Given the description of an element on the screen output the (x, y) to click on. 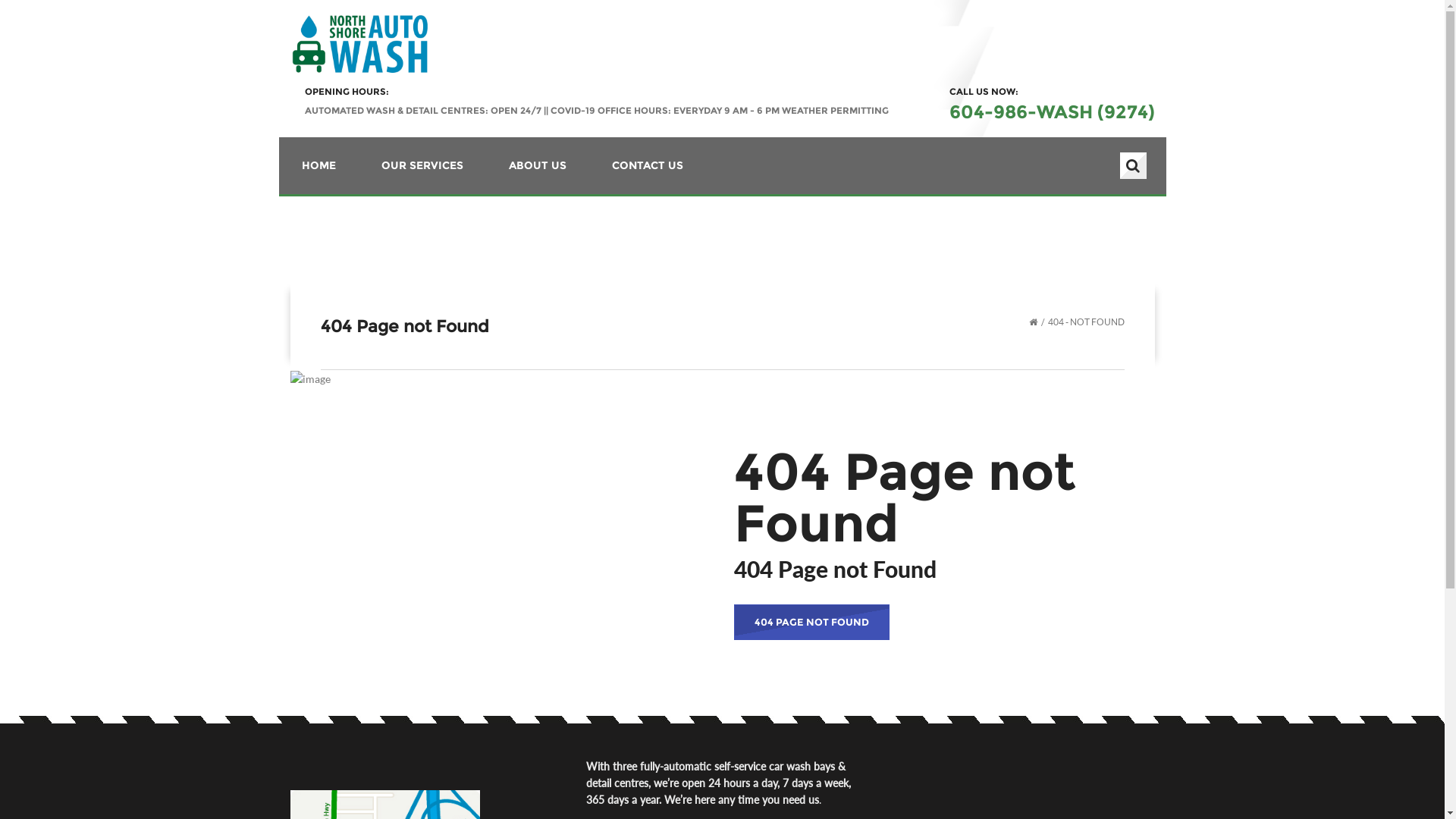
ABOUT US Element type: text (536, 165)
North Shore Auto Wash Element type: hover (357, 42)
CONTACT US Element type: text (646, 165)
OUR SERVICES Element type: text (421, 165)
404 PAGE NOT FOUND Element type: text (811, 622)
HOME Element type: text (318, 165)
